Given the description of an element on the screen output the (x, y) to click on. 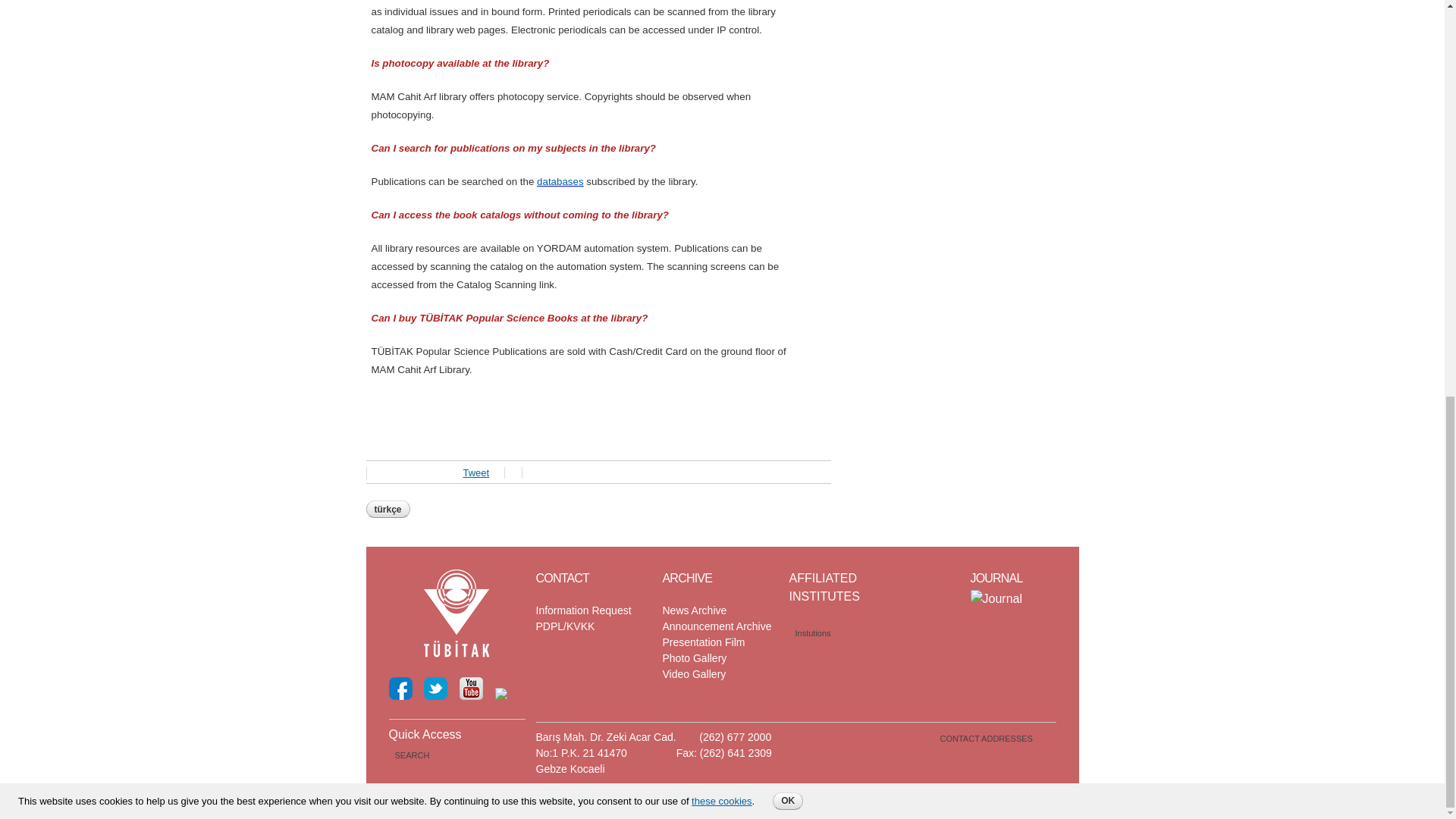
OK (788, 33)
OK (788, 33)
SSS (387, 508)
these cookies (721, 33)
